Given the description of an element on the screen output the (x, y) to click on. 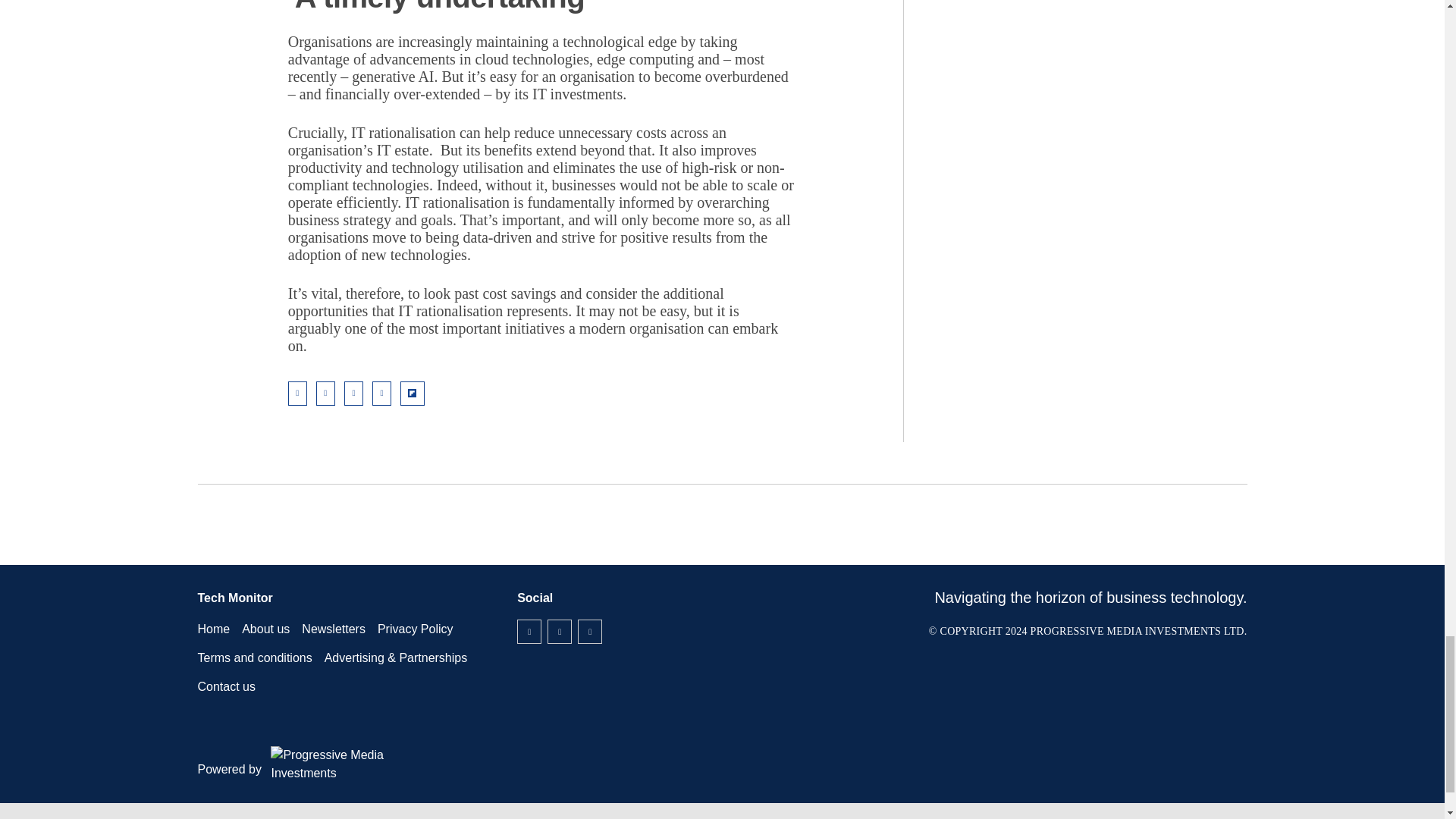
Share on Flipboard (412, 393)
